Given the description of an element on the screen output the (x, y) to click on. 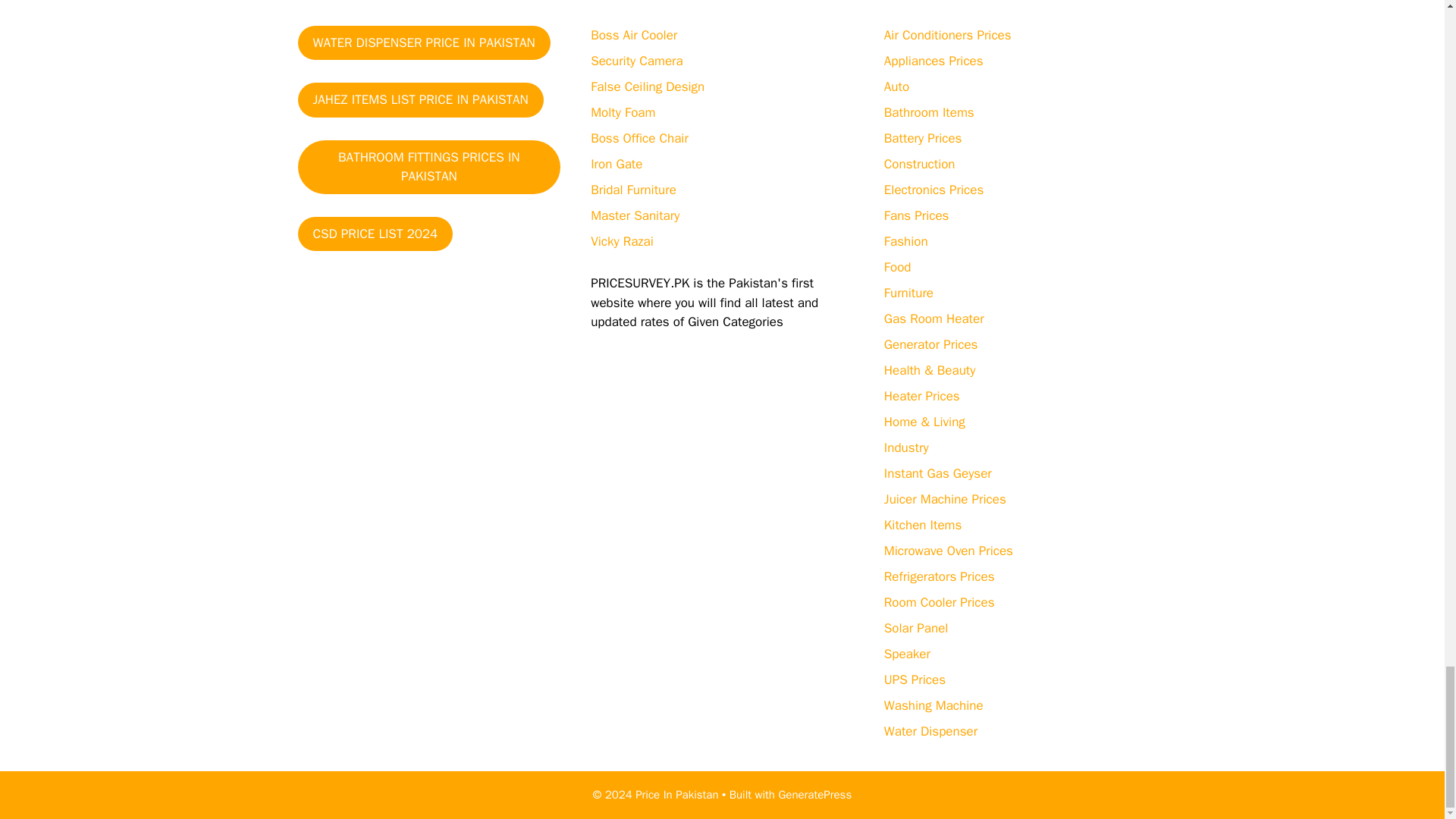
Boss Office Chair (639, 138)
Fans Prices (916, 215)
Appliances Prices (933, 60)
Vicky Razai (622, 241)
JAHEZ ITEMS LIST PRICE IN PAKISTAN (420, 99)
Auto (895, 86)
Battery Prices (922, 138)
Air Conditioners Prices (947, 35)
Molty Foam (623, 112)
False Ceiling Design (647, 86)
Boss Air Cooler (634, 35)
Bathroom Items (928, 112)
Construction (919, 163)
Security Camera (636, 60)
WATER DISPENSER PRICE IN PAKISTAN (423, 42)
